Given the description of an element on the screen output the (x, y) to click on. 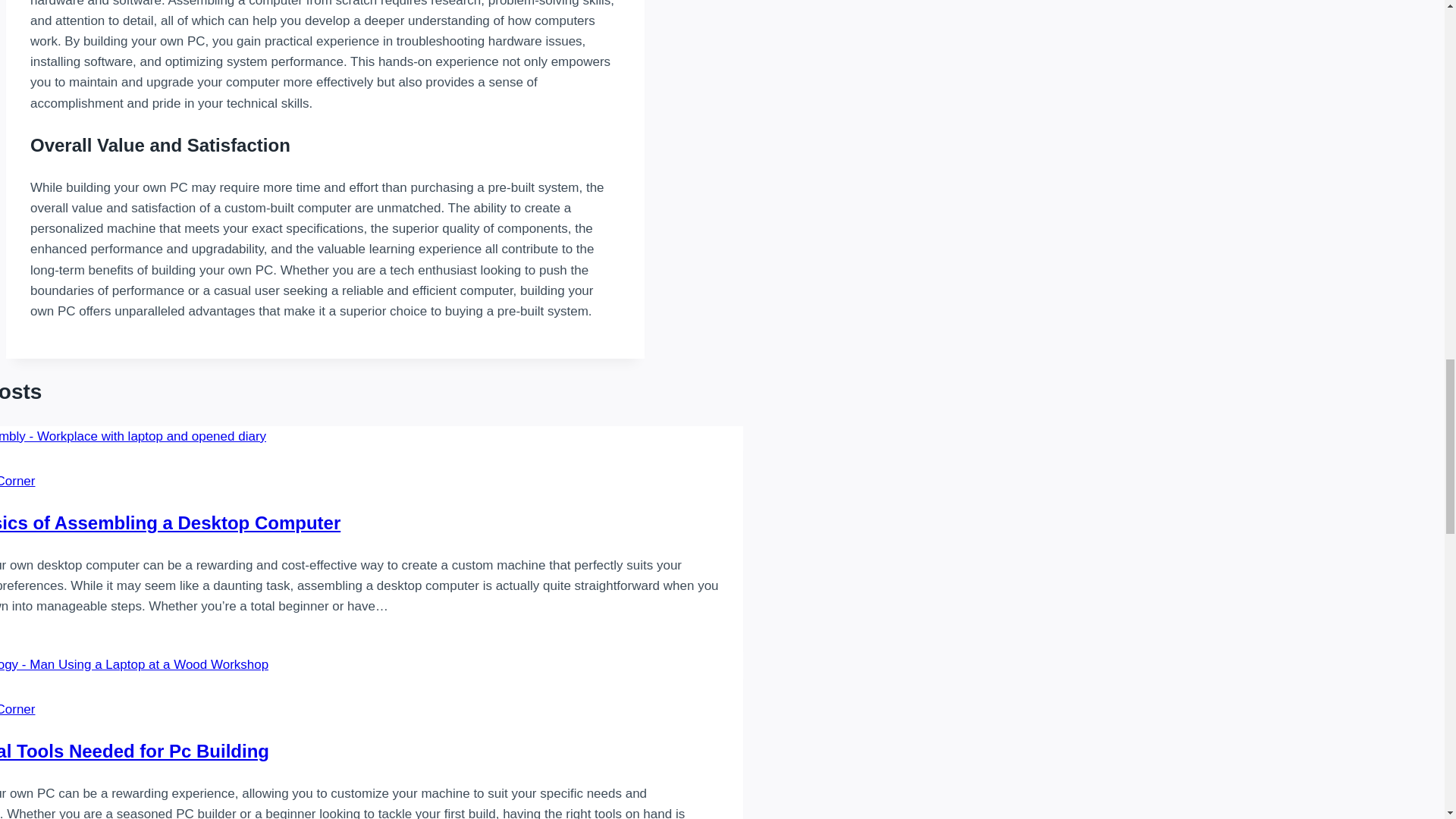
Beginner's Corner (17, 481)
Beginner's Corner (17, 708)
Essential Tools Needed for Pc Building (134, 751)
The Basics of Assembling a Desktop Computer (170, 522)
